Given the description of an element on the screen output the (x, y) to click on. 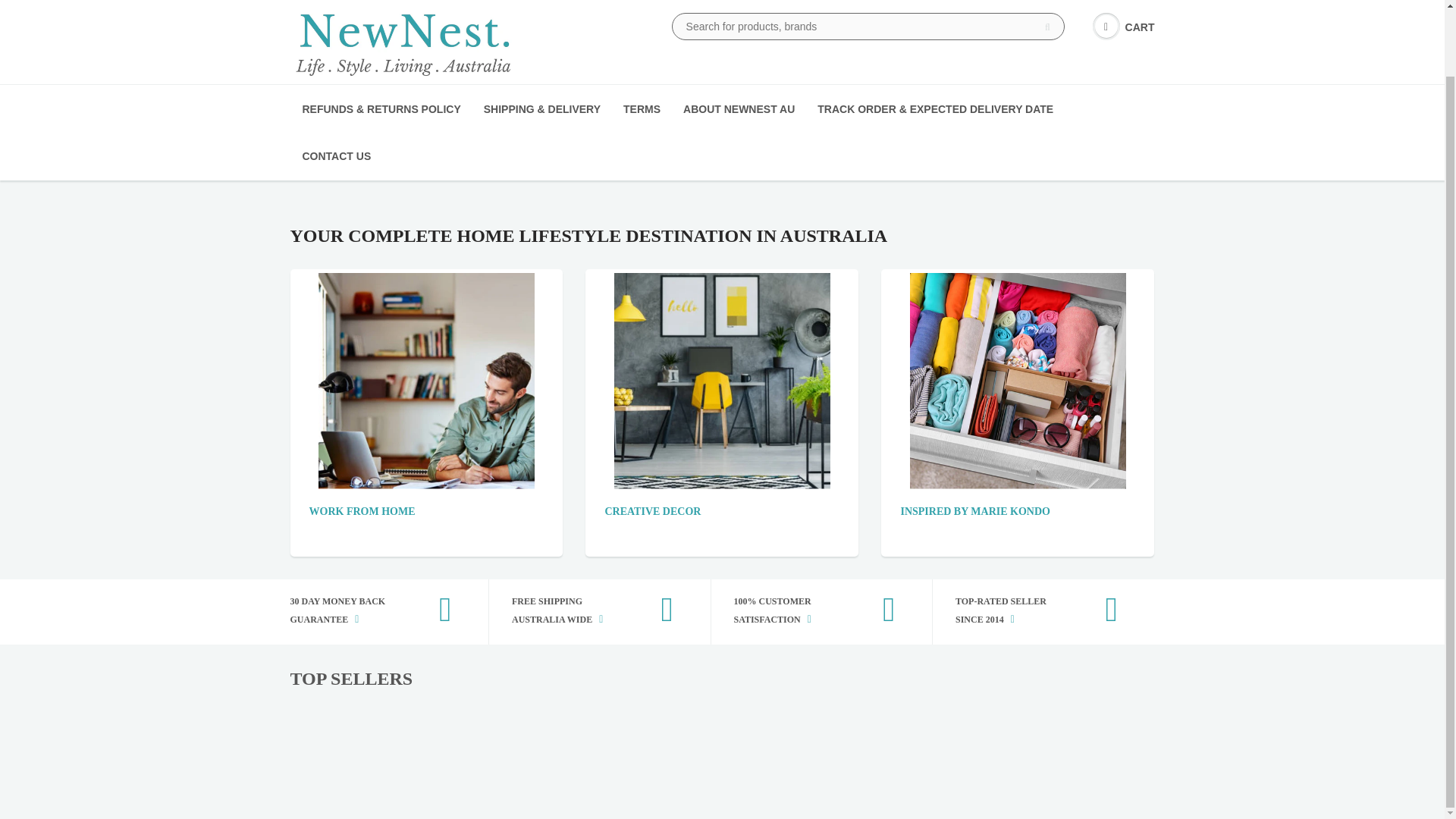
ABOUT NEWNEST AU (738, 108)
TOP-RATED SELLER SINCE 2014 (1032, 611)
CART (1124, 27)
Browse our Creative Decor collection (652, 511)
TERMS (641, 108)
30 DAY MONEY BACK GUARANTEE (365, 611)
Browse our Work from Home collection (426, 379)
FREE SHIPPING AUSTRALIA WIDE (588, 611)
Browse our inspired by marie kondo collection (974, 511)
INSPIRED BY MARIE KONDO (974, 511)
Browse our inspired by marie kondo collection (1017, 379)
CONTACT US (336, 155)
Browse our Creative Decor collection (721, 379)
Browse our Work from Home collection (361, 511)
WORK FROM HOME (361, 511)
